Given the description of an element on the screen output the (x, y) to click on. 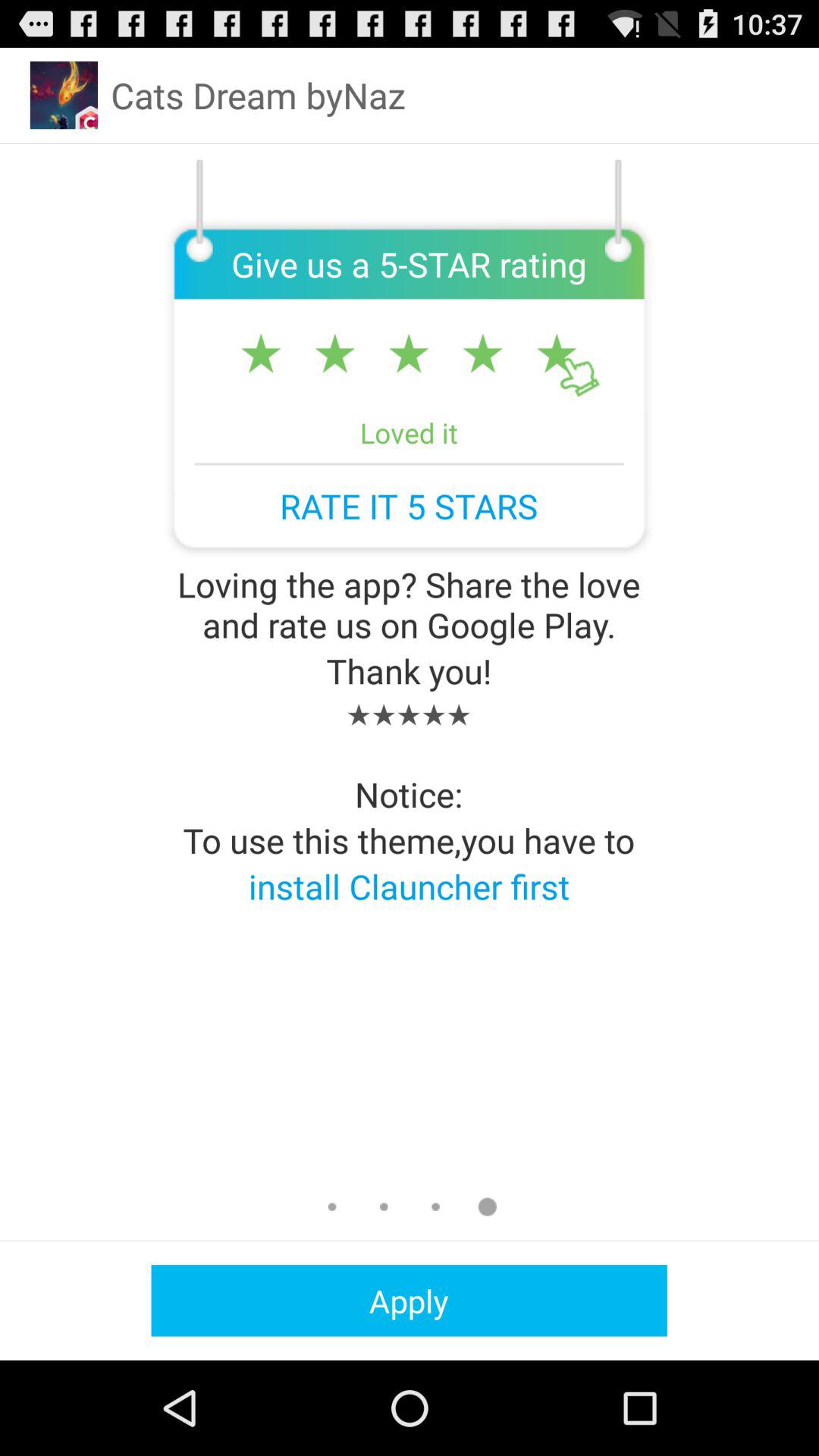
turn off install clauncher first (409, 886)
